Given the description of an element on the screen output the (x, y) to click on. 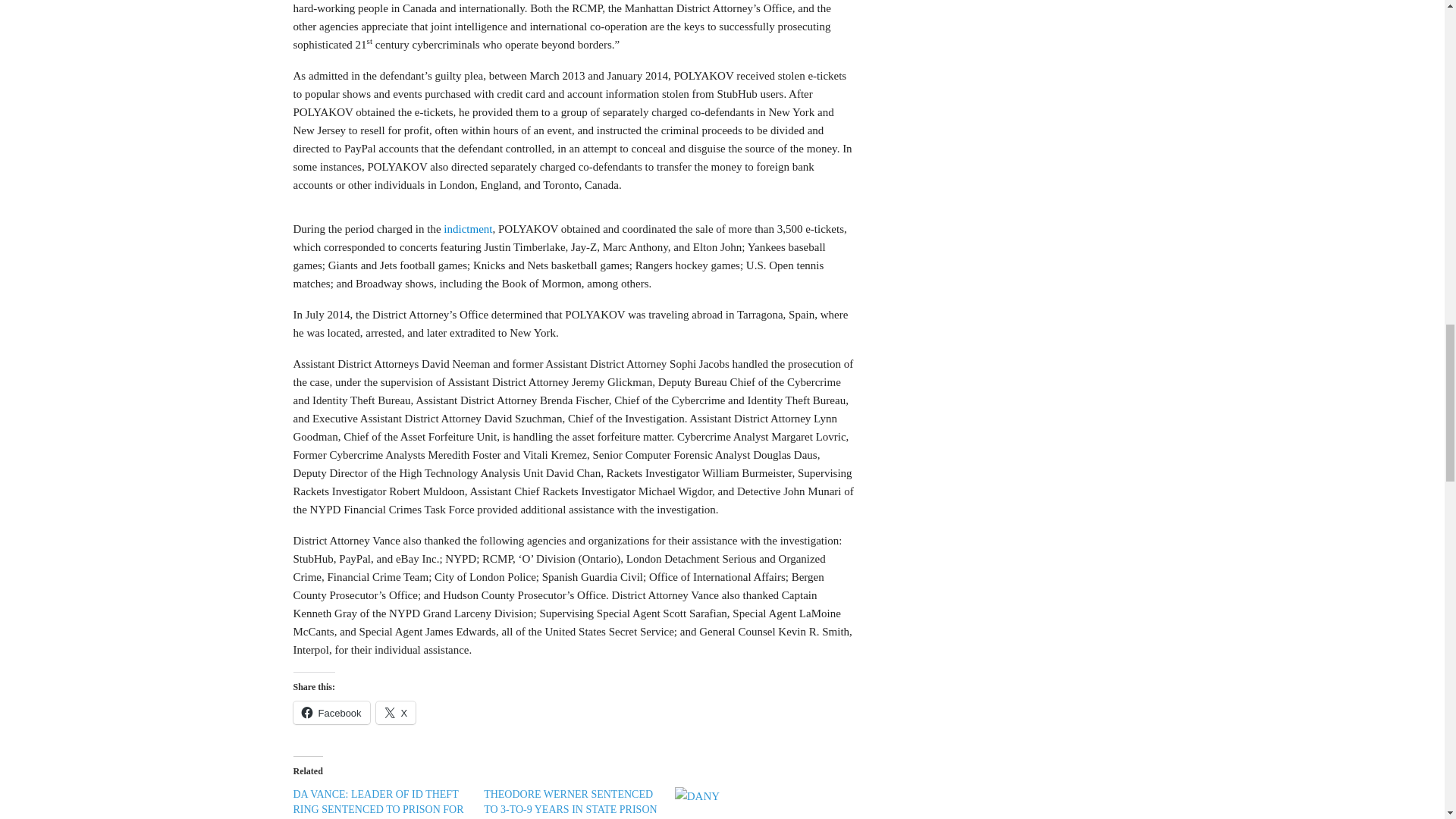
Click to share on Facebook (330, 712)
Click to share on X (395, 712)
